Given the description of an element on the screen output the (x, y) to click on. 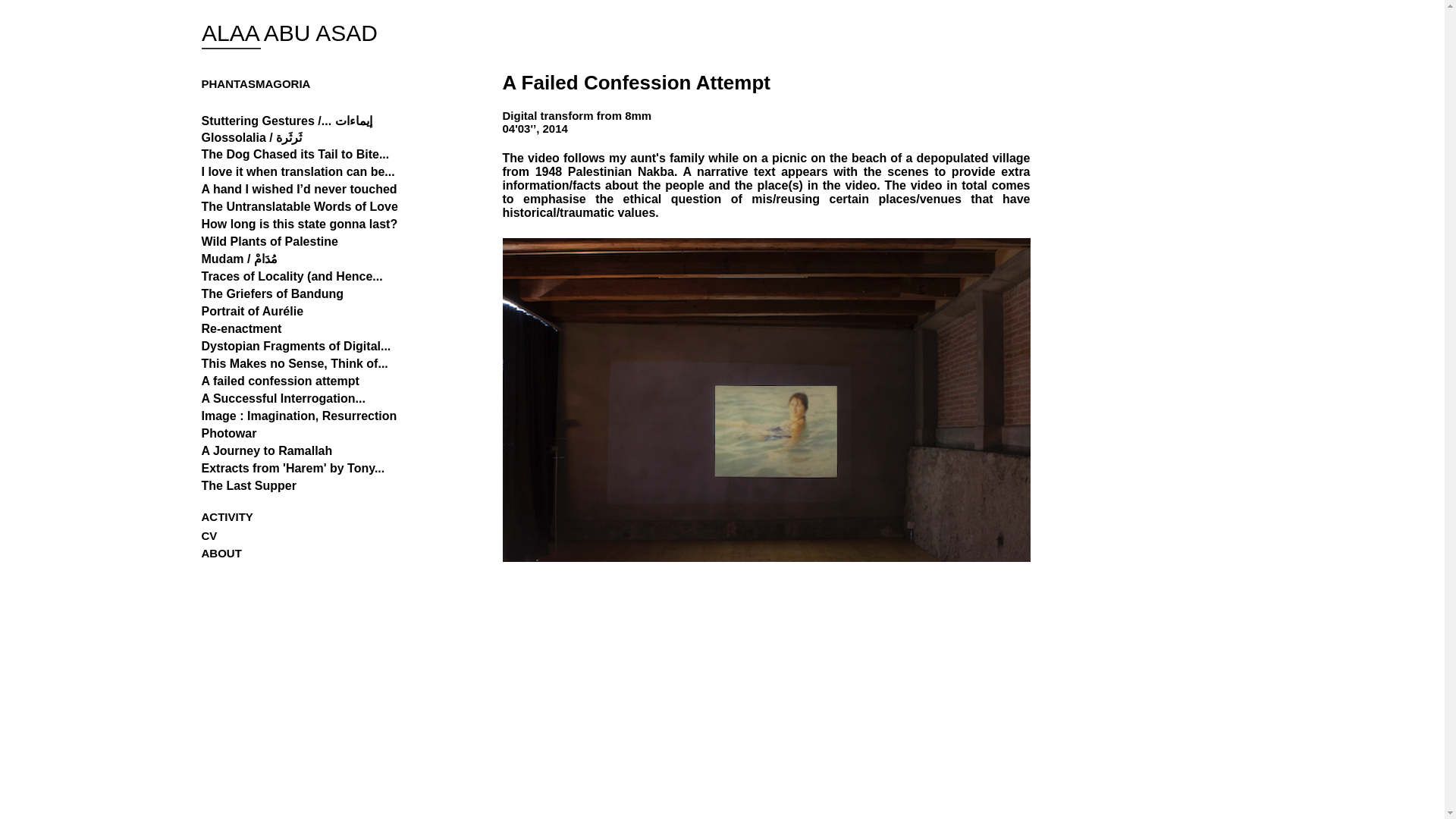
The Untranslatable Words of Love (299, 207)
I love it when translation can be... (298, 171)
A Journey to Ramallah (267, 451)
The Last Supper (249, 485)
ABOUT (229, 552)
Extracts from 'Harem' by Tony... (293, 468)
This Makes no Sense, Think of... (295, 363)
Image : Imagination, Resurrection (299, 416)
ALAA ABU ASAD (290, 33)
How long is this state gonna last? (299, 224)
The Dog Chased its Tail to Bite... (296, 154)
CV (211, 535)
A Successful Interrogation... (283, 398)
Re-enactment (242, 329)
Photowar (229, 433)
